Given the description of an element on the screen output the (x, y) to click on. 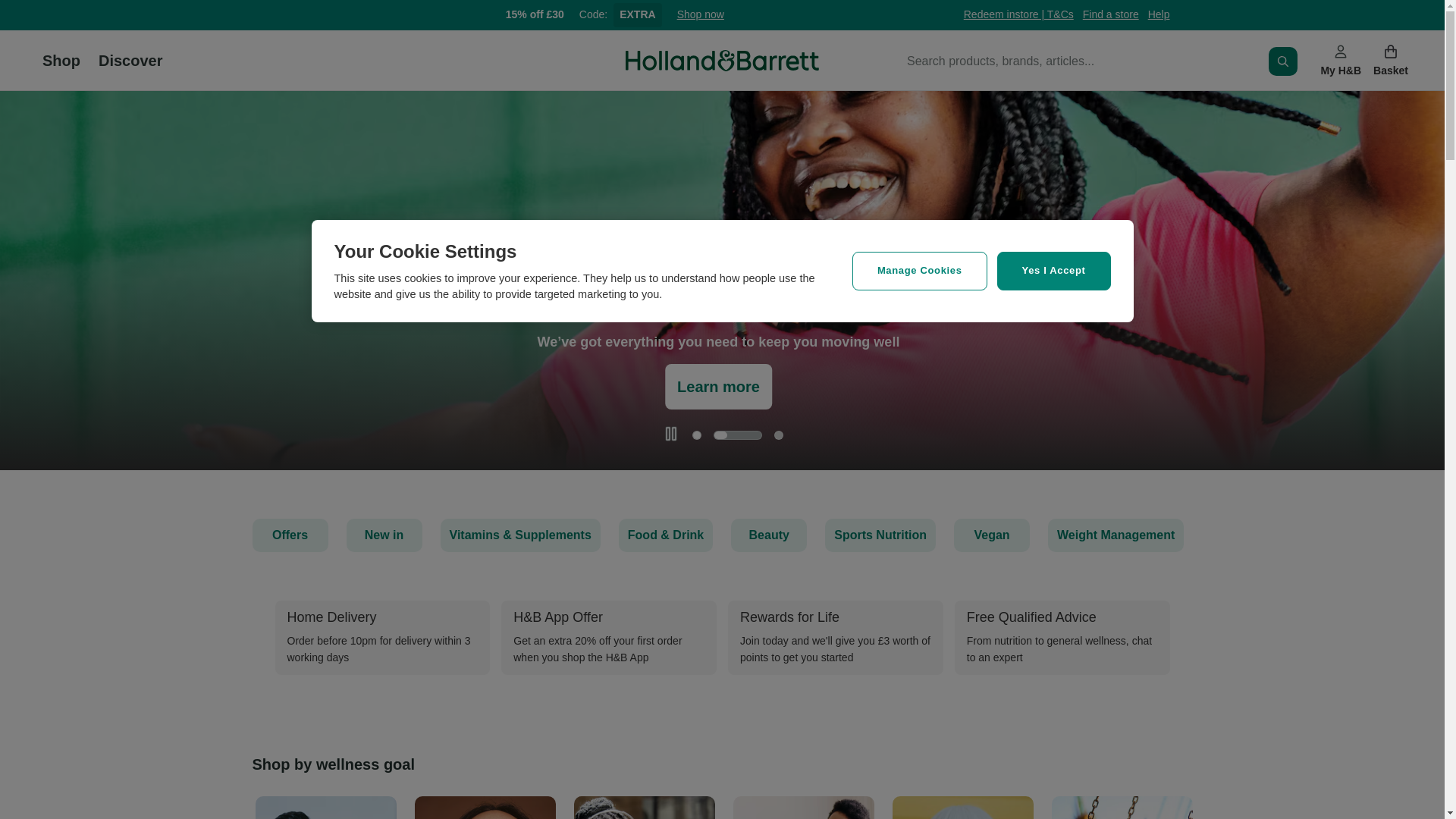
Shop now (700, 14)
Help (1159, 14)
Find a store (1110, 14)
